Given the description of an element on the screen output the (x, y) to click on. 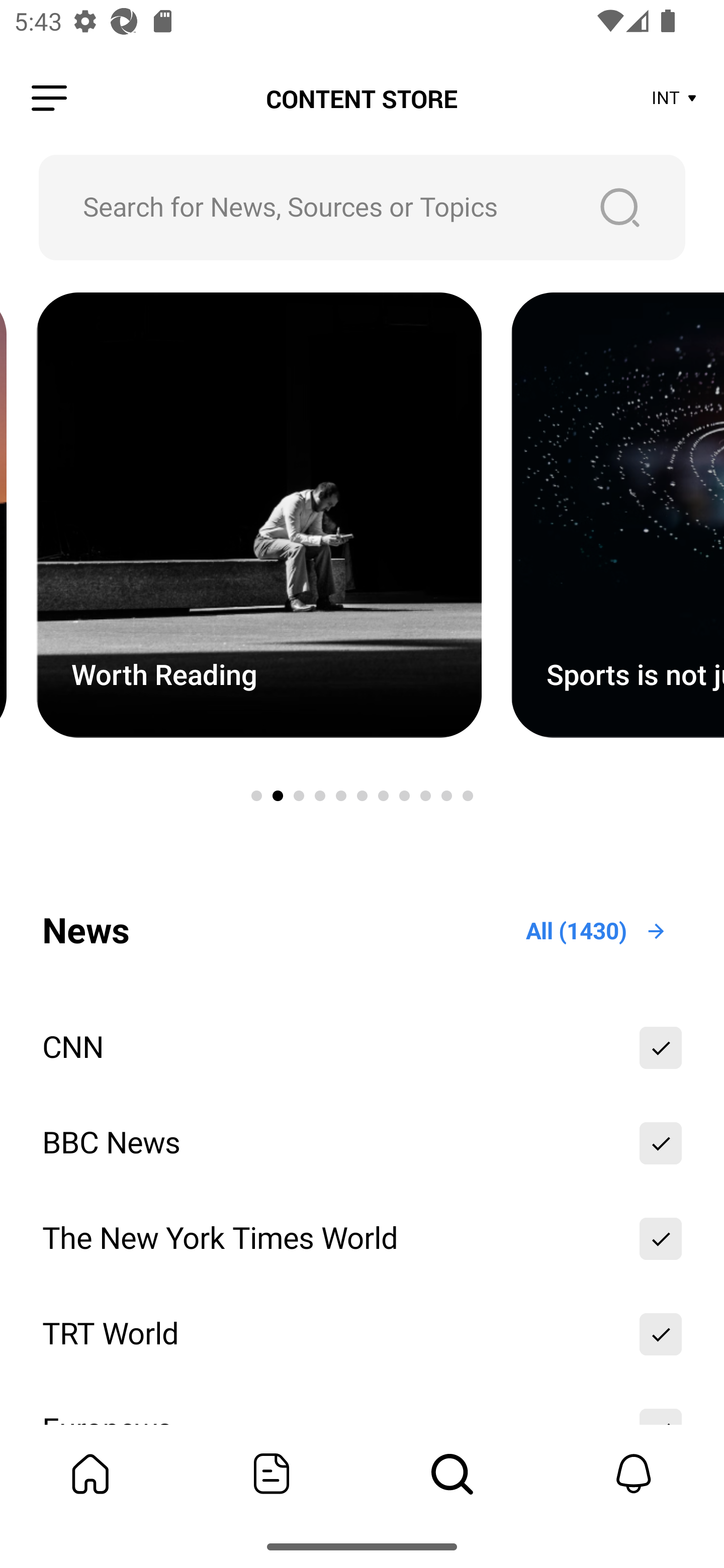
INT Store Area (674, 98)
Leading Icon (49, 98)
Search for News, Sources or Topics Search Button (361, 207)
Content Store Discover Card Image Worth Reading (258, 515)
All (1430) Open All Icon (596, 931)
CNN Add To My Bundle (361, 1047)
Add To My Bundle (660, 1047)
BBC News Add To My Bundle (361, 1142)
Add To My Bundle (660, 1142)
The New York Times World Add To My Bundle (361, 1238)
Add To My Bundle (660, 1238)
TRT World Add To My Bundle (361, 1334)
Add To My Bundle (660, 1334)
My Bundle (90, 1473)
Featured (271, 1473)
Notifications (633, 1473)
